Given the description of an element on the screen output the (x, y) to click on. 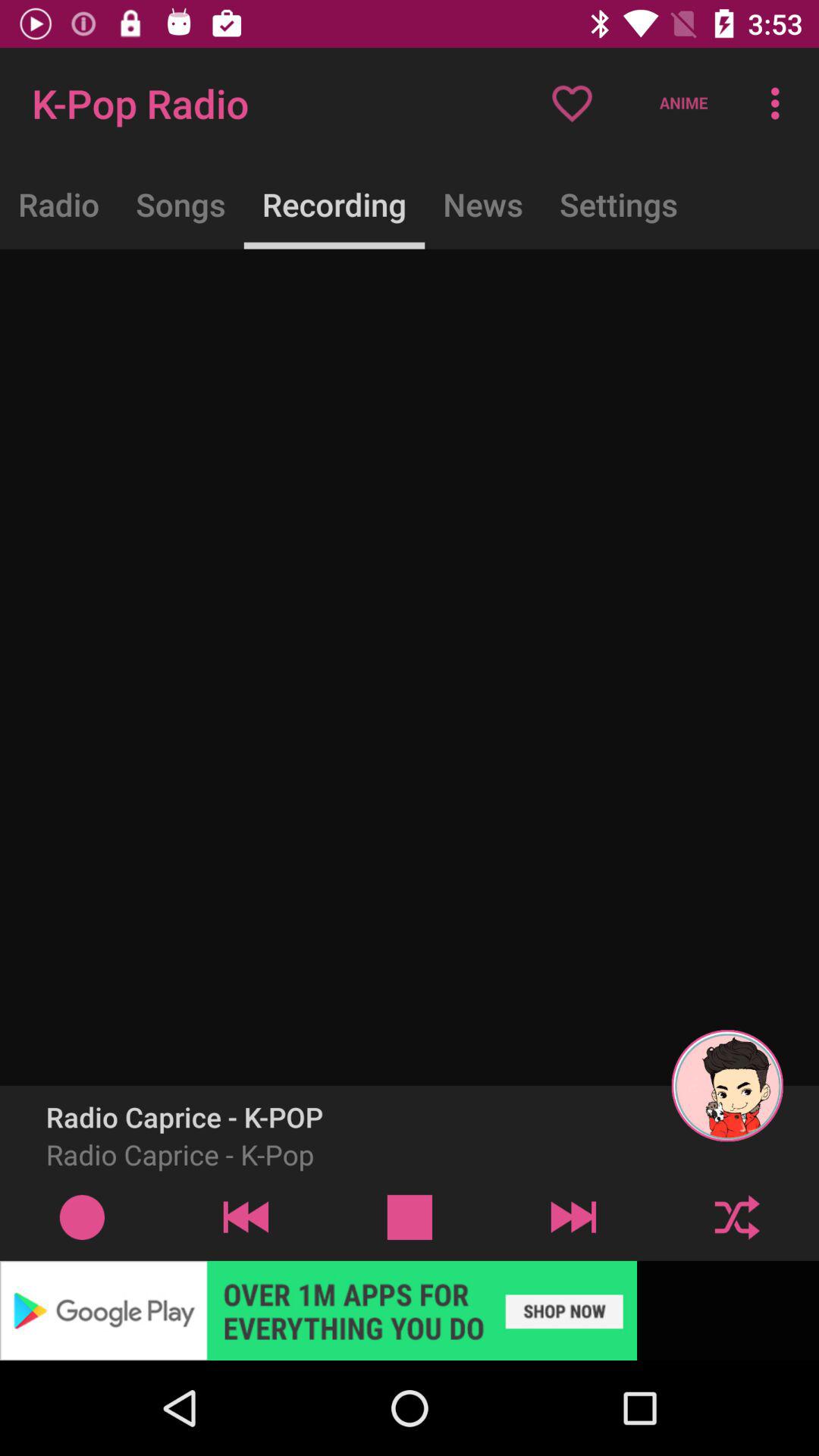
go to previous button (245, 1216)
